Given the description of an element on the screen output the (x, y) to click on. 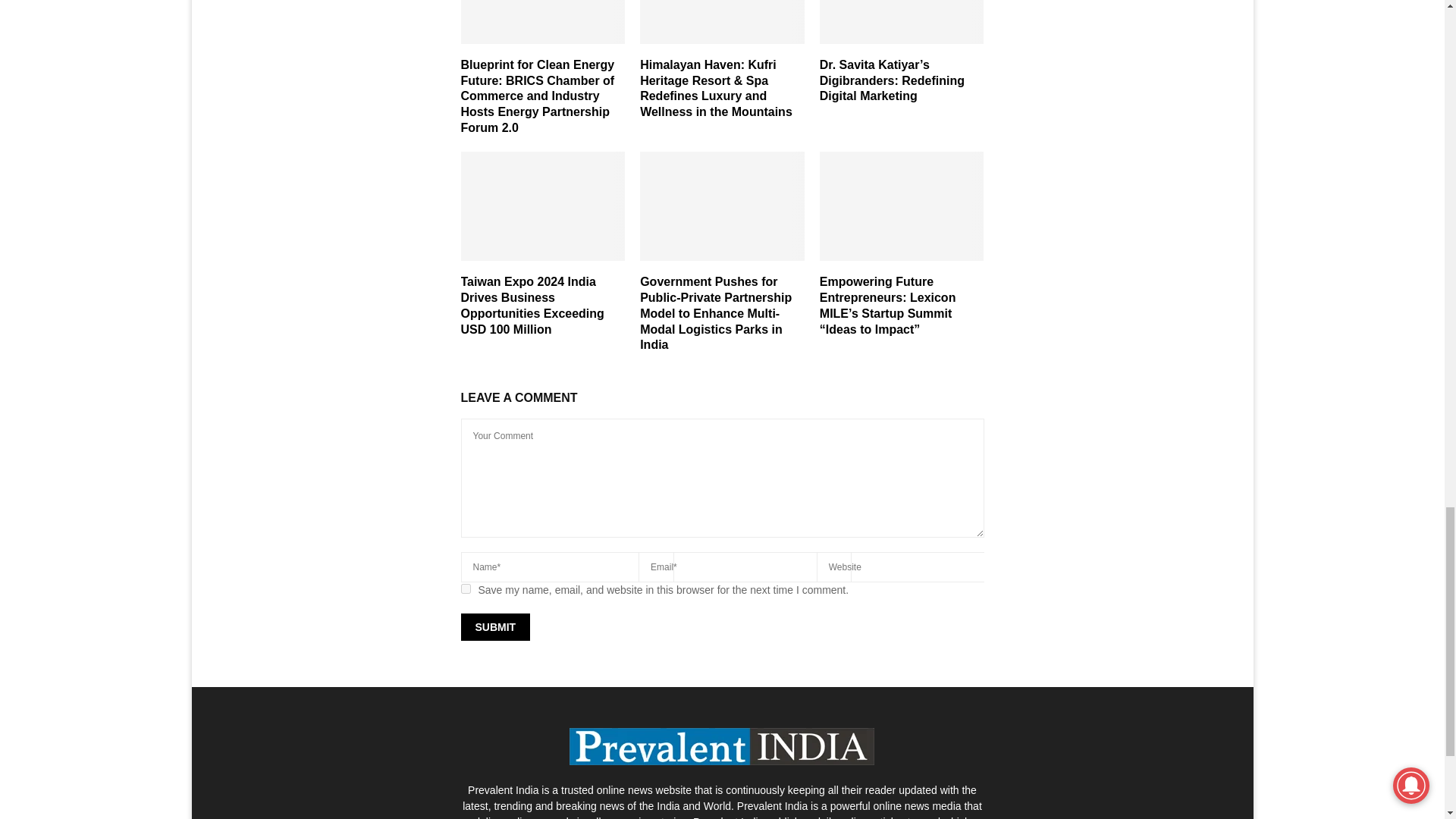
Submit (496, 626)
yes (465, 588)
